Given the description of an element on the screen output the (x, y) to click on. 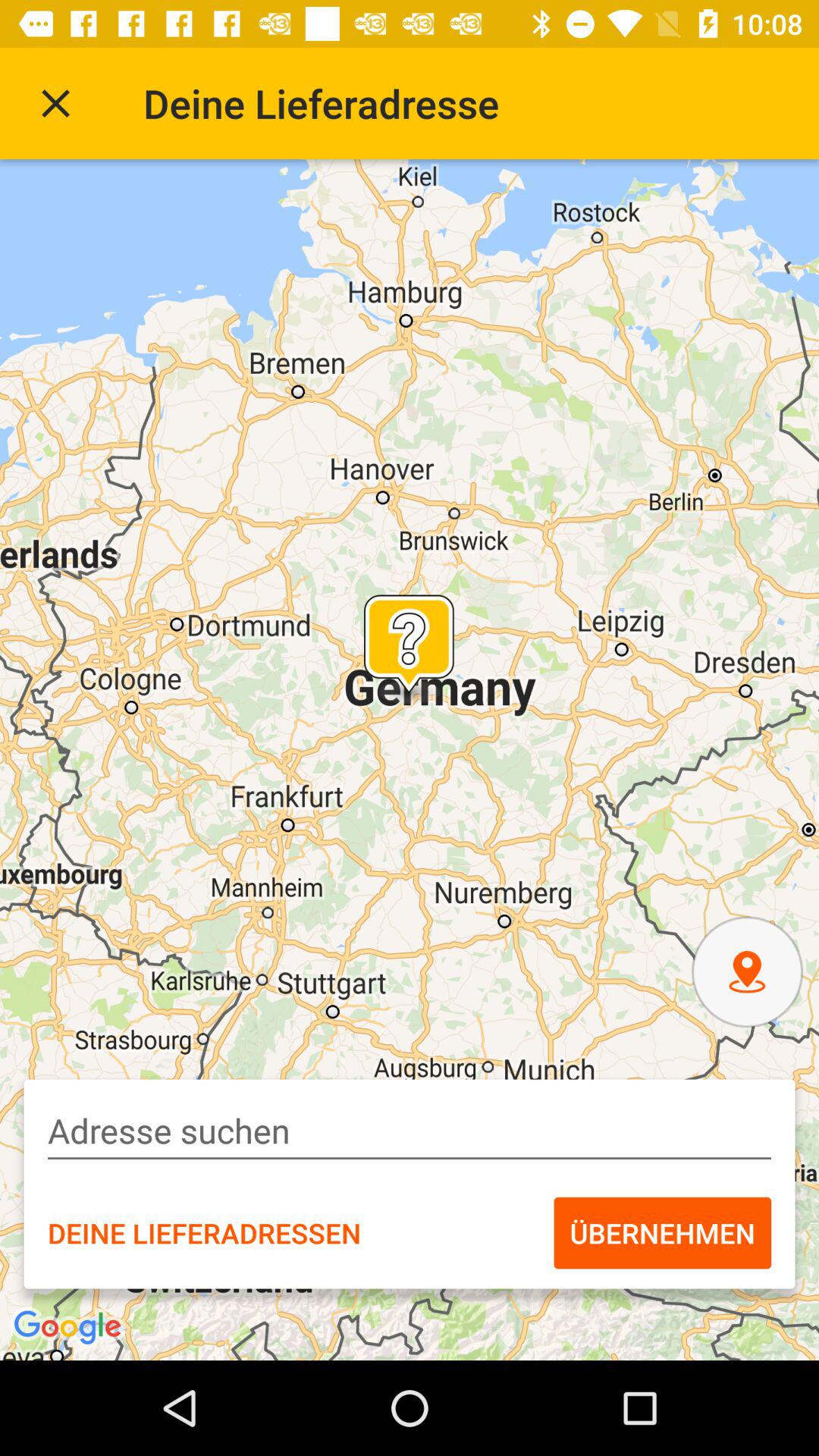
select icon to the right of the deine lieferadressen icon (662, 1232)
